Given the description of an element on the screen output the (x, y) to click on. 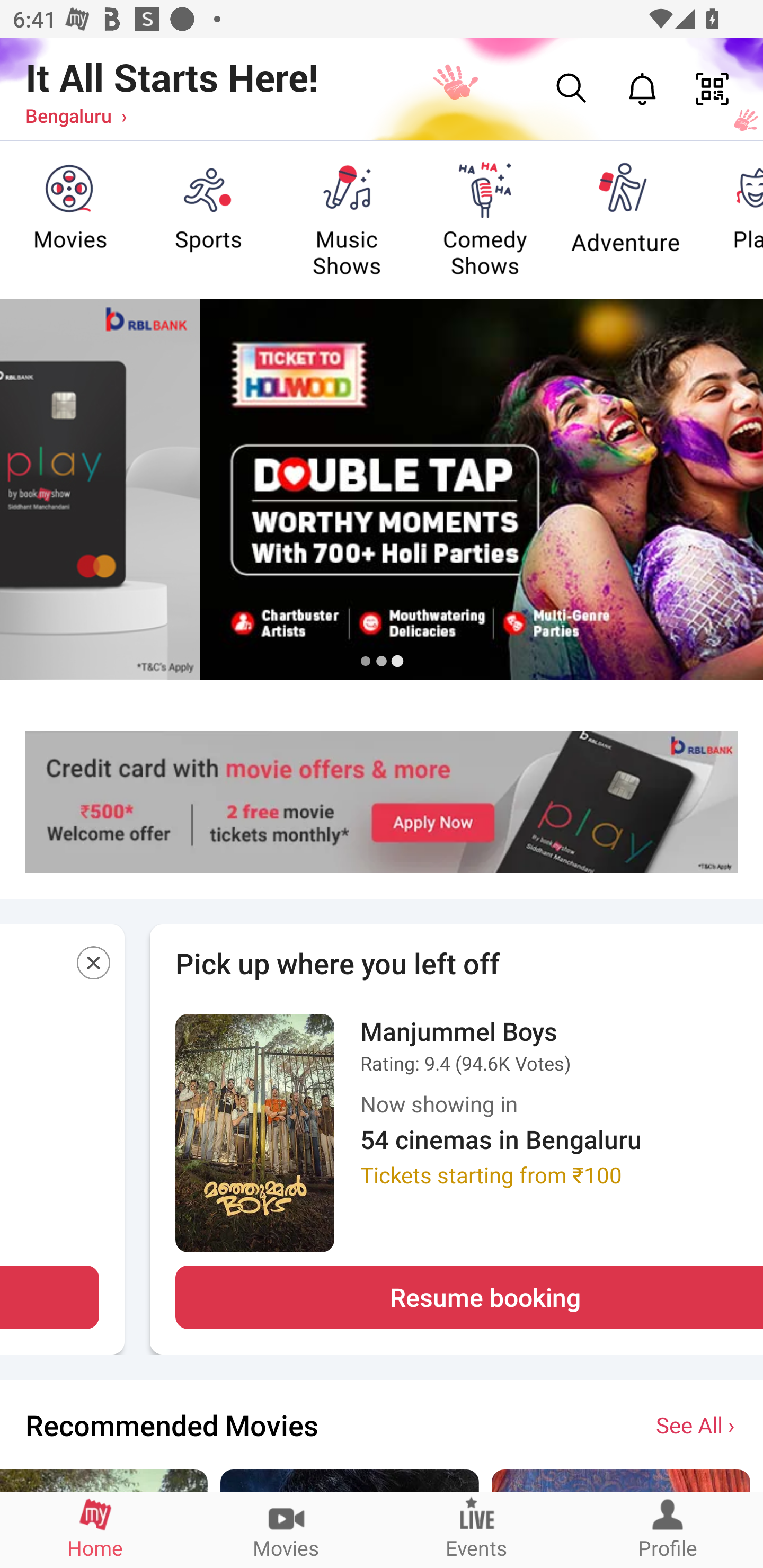
Bengaluru  › (76, 114)
  (94, 966)
Resume booking (469, 1297)
See All › (696, 1424)
Home (95, 1529)
Movies (285, 1529)
Events (476, 1529)
Profile (667, 1529)
